Given the description of an element on the screen output the (x, y) to click on. 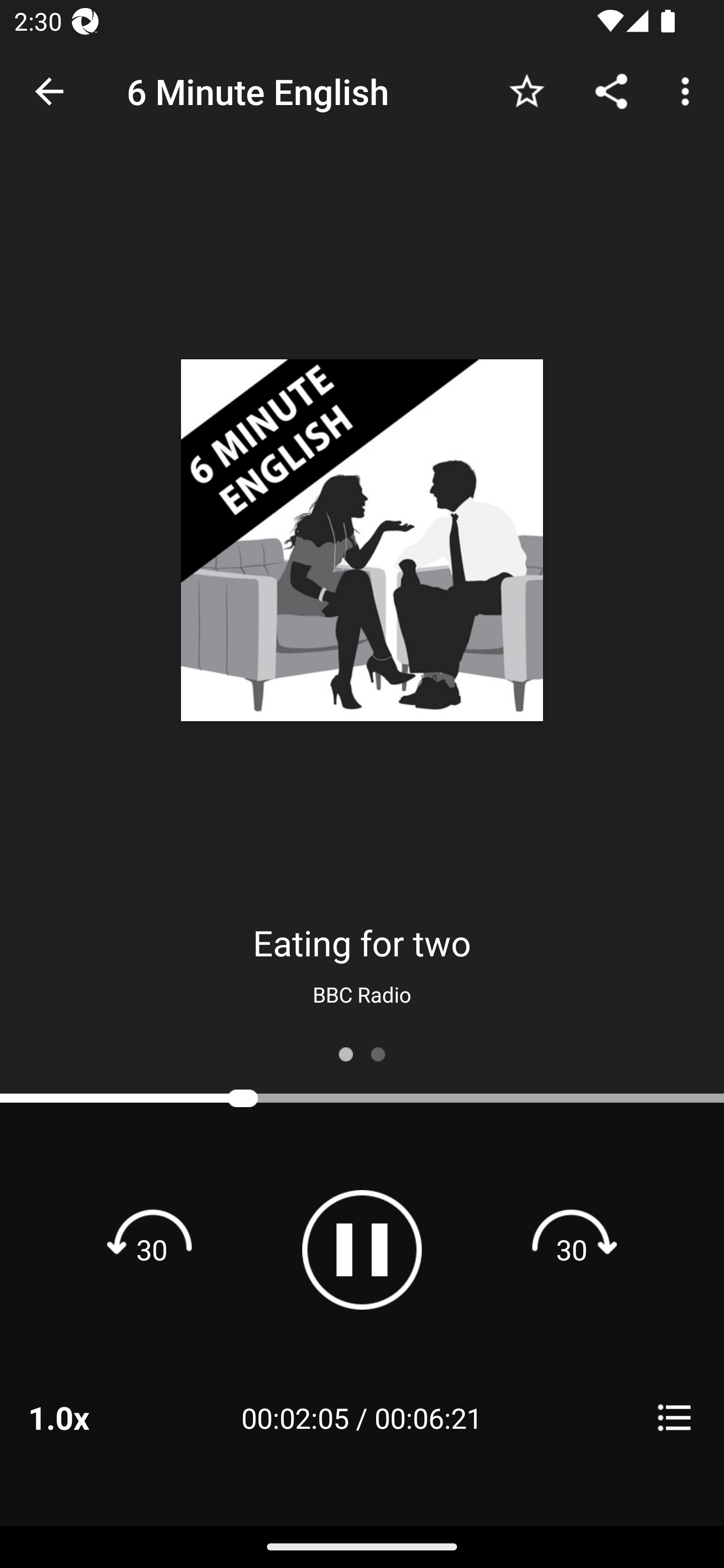
Navigate up (49, 91)
Add to Favorites (526, 90)
Share... (611, 90)
More options (688, 90)
BBC Radio (361, 994)
Pause (361, 1249)
Rewind (151, 1249)
Fast forward (571, 1249)
1.0x Playback Speeds (84, 1417)
00:06:21 (428, 1417)
